Given the description of an element on the screen output the (x, y) to click on. 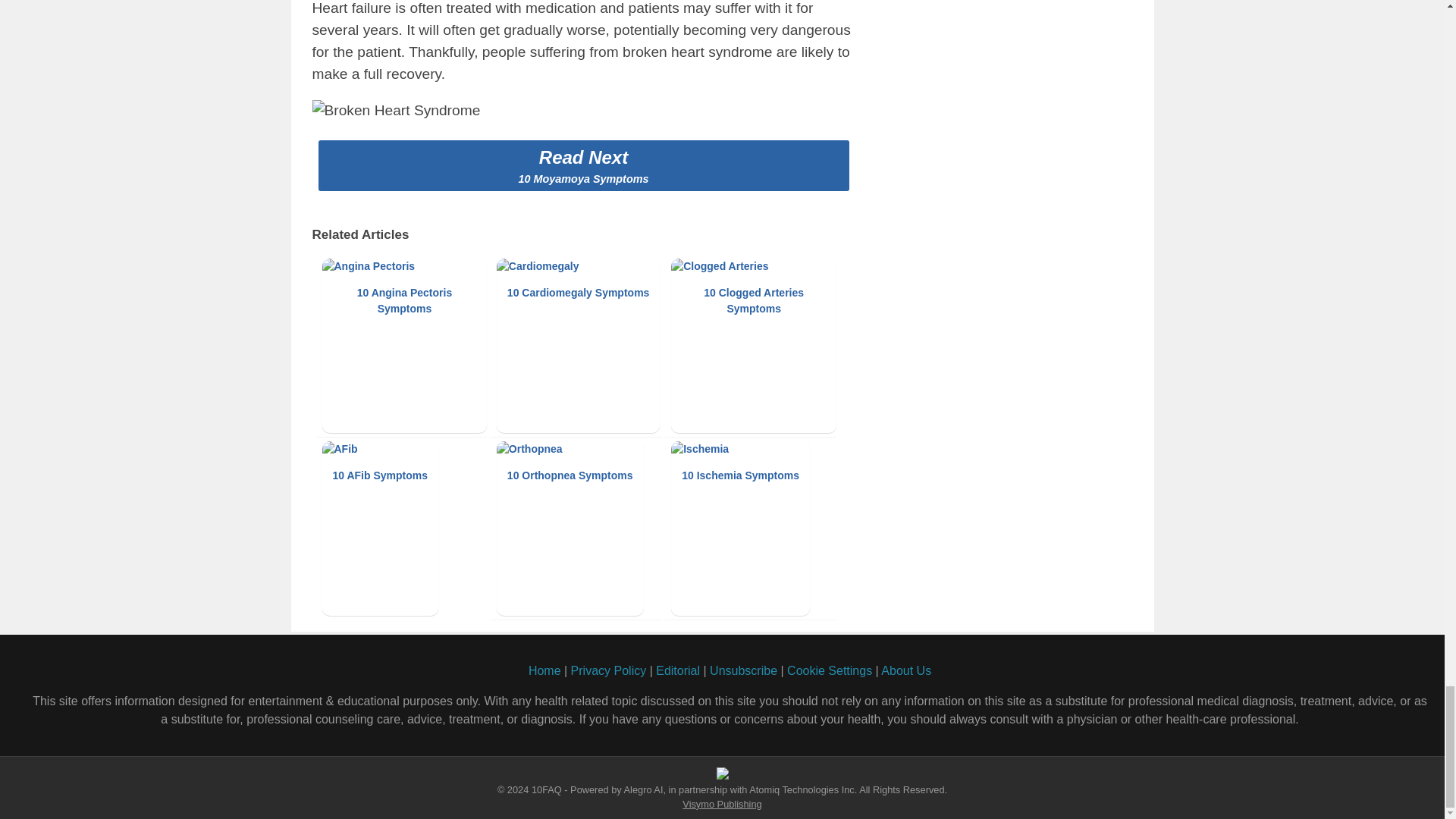
Home (544, 670)
10 Ischemia Symptoms (753, 528)
10 Orthopnea Symptoms (579, 528)
Visymo Publishing (721, 803)
Cookie Settings (829, 671)
10 AFib Symptoms (403, 528)
10 Cardiomegaly Symptoms (579, 345)
Unsubscribe (743, 670)
Editorial (678, 670)
About Us (905, 670)
10 Angina Pectoris Symptoms (403, 345)
10 Clogged Arteries Symptoms (753, 345)
Privacy Policy (608, 670)
